Given the description of an element on the screen output the (x, y) to click on. 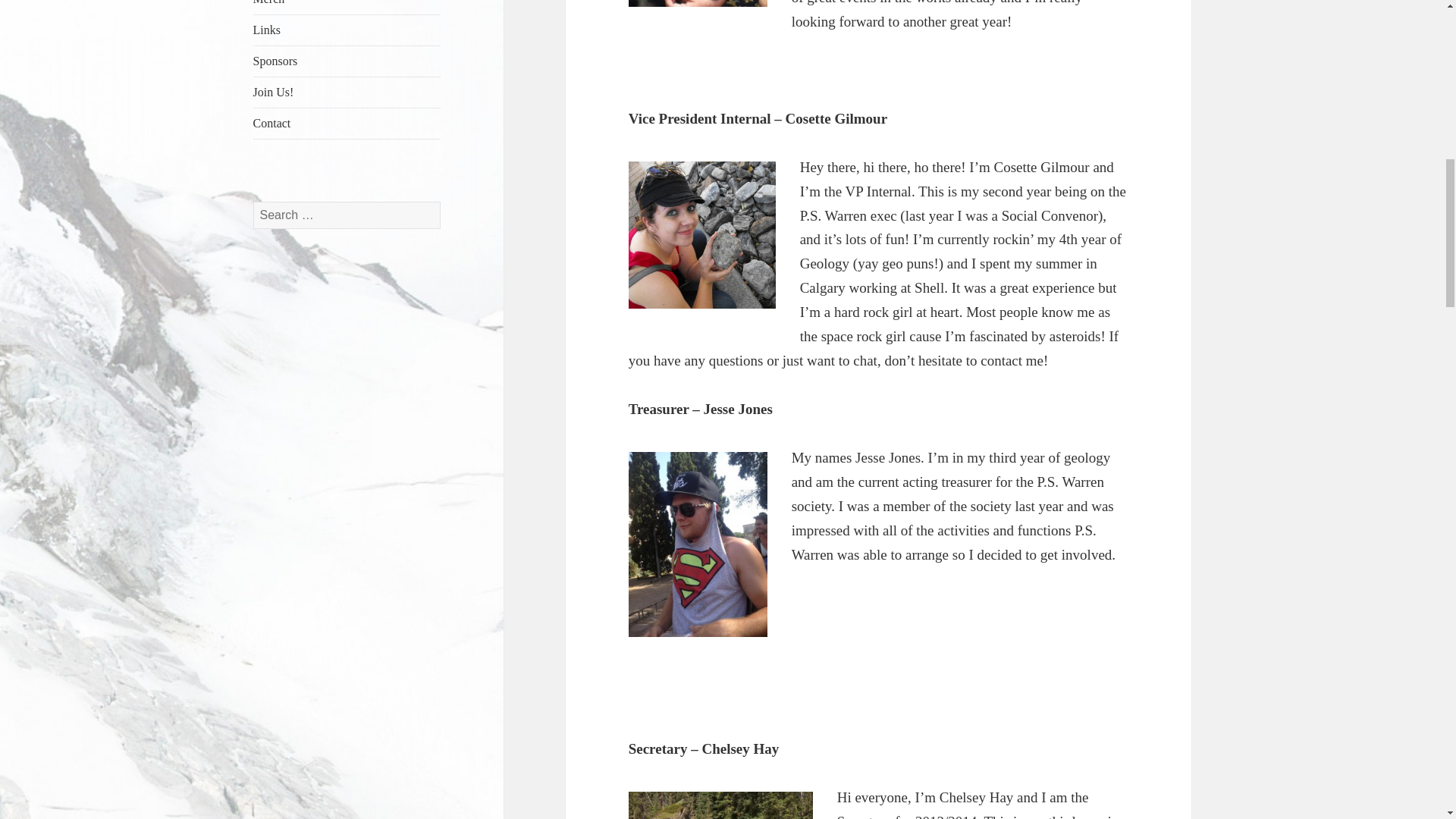
Join Us! (347, 91)
Links (347, 30)
Contact (347, 123)
Merch (347, 7)
Sponsors (347, 60)
